Given the description of an element on the screen output the (x, y) to click on. 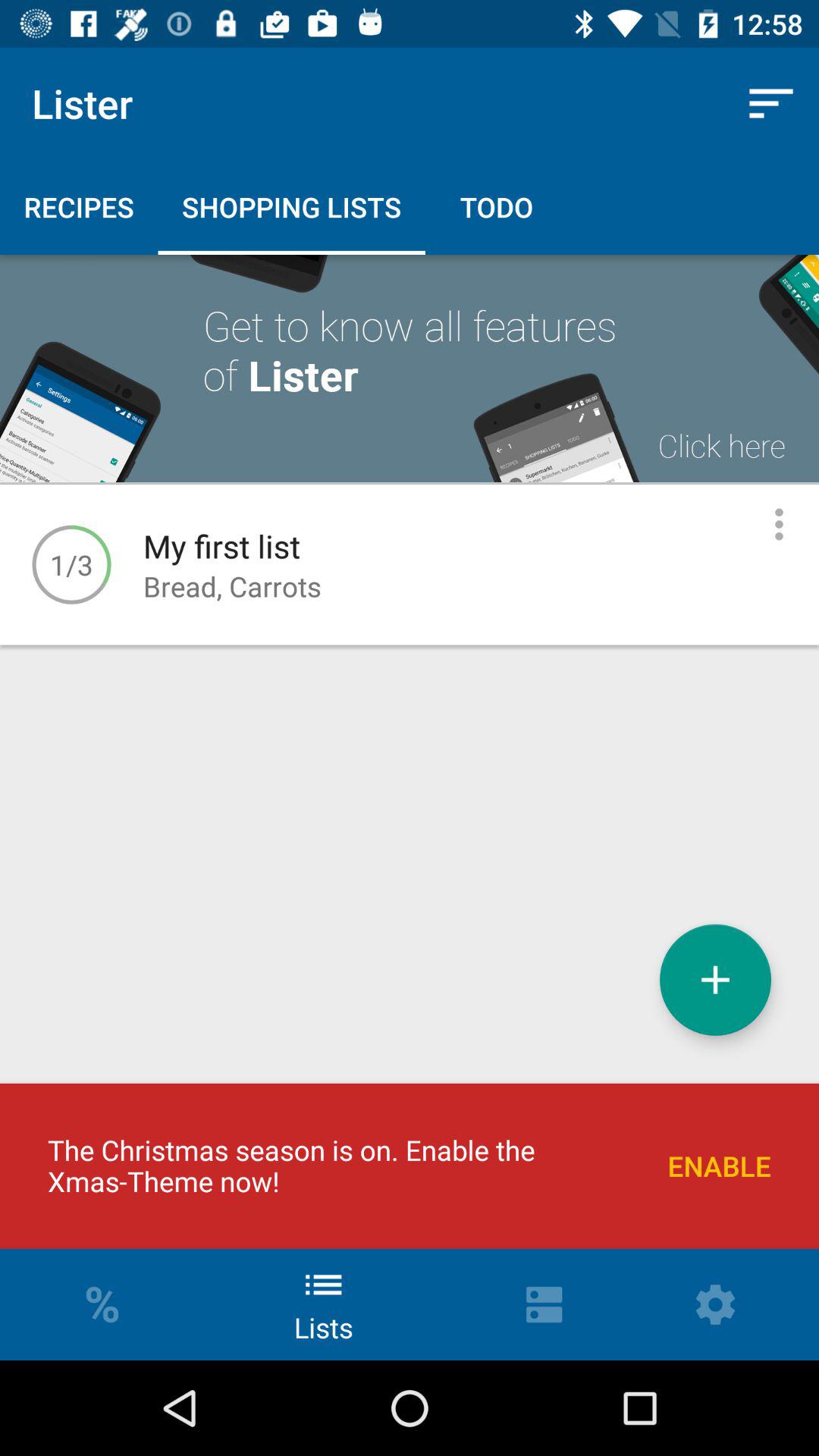
select the icon next to lister icon (771, 103)
